Given the description of an element on the screen output the (x, y) to click on. 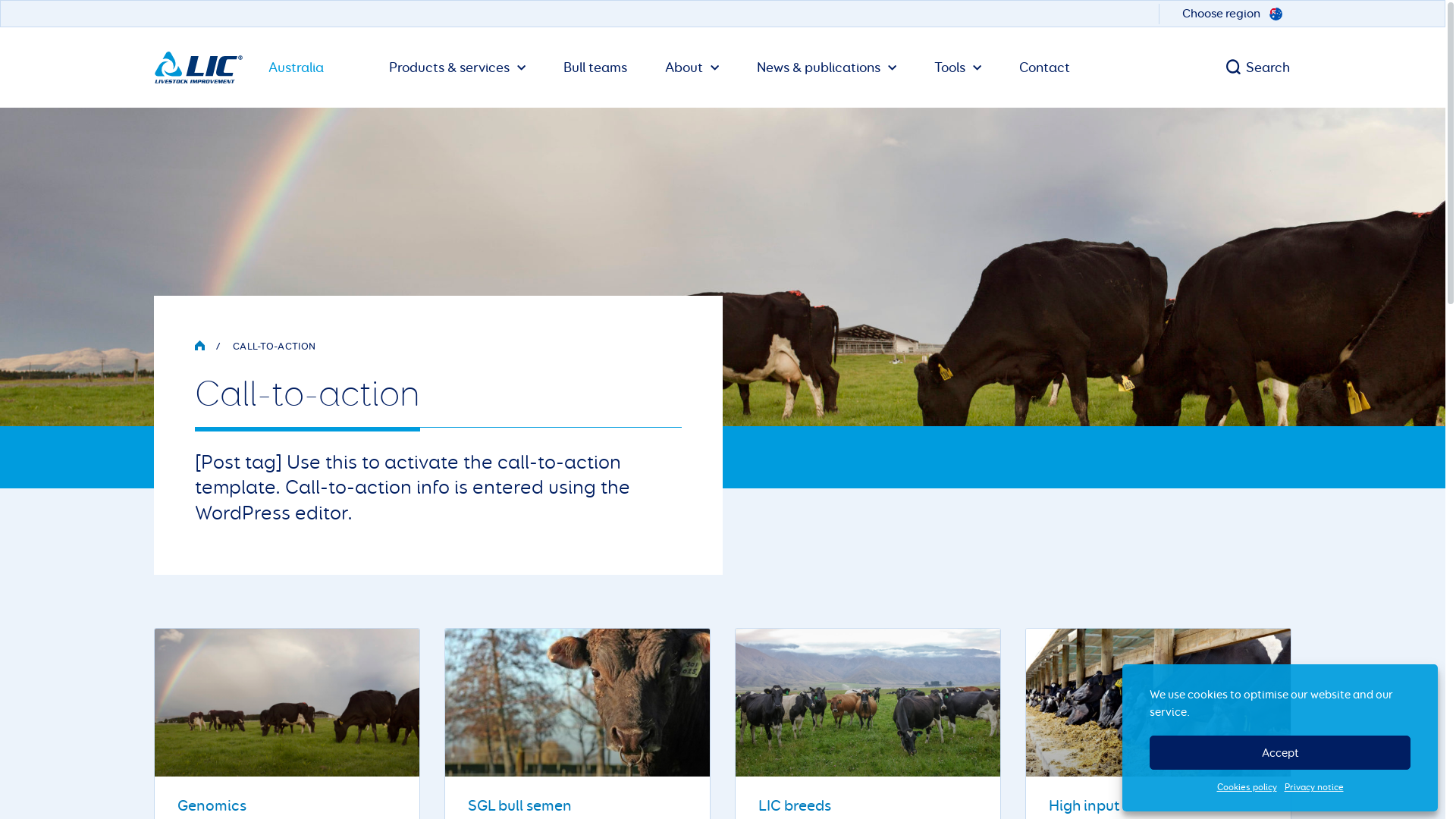
Contact Element type: text (1044, 67)
News & publications Element type: text (826, 67)
Choose region Element type: text (1236, 13)
Genomics Element type: text (211, 805)
Cookies policy Element type: text (1246, 787)
Privacy notice Element type: text (1313, 787)
Products & services Element type: text (456, 67)
Accept Element type: text (1279, 752)
About Element type: text (691, 67)
Tools Element type: text (957, 67)
HOME Element type: text (198, 344)
Bull teams Element type: text (595, 67)
SGL bull semen Element type: text (519, 805)
High input Element type: text (1084, 805)
LIC breeds Element type: text (794, 805)
